Given the description of an element on the screen output the (x, y) to click on. 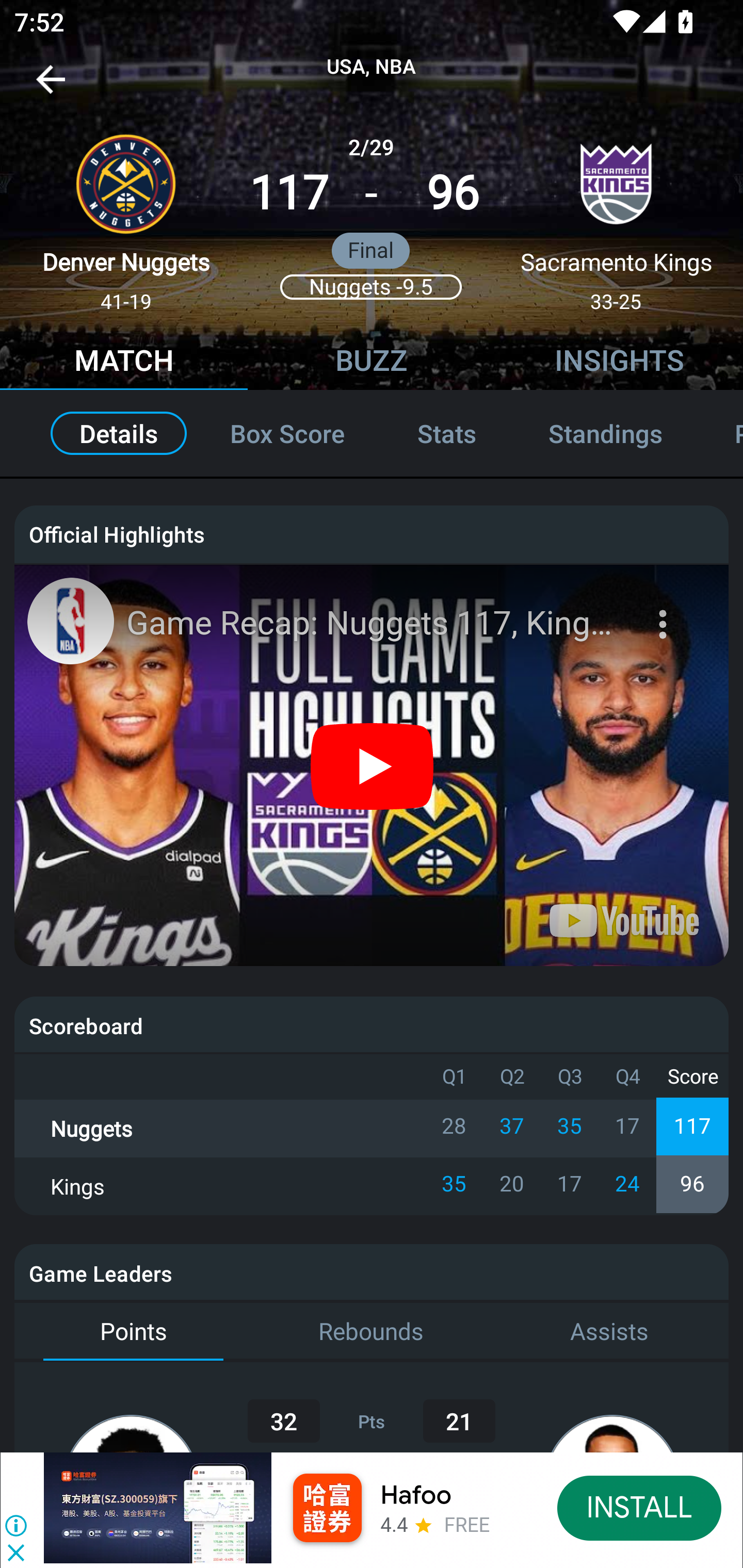
Navigate up (50, 86)
USA, NBA (371, 66)
Denver Nuggets 41-19 (126, 214)
Sacramento Kings 33-25 (616, 214)
117 (288, 192)
96 (453, 192)
MATCH (123, 362)
BUZZ (371, 362)
INSIGHTS (619, 362)
Box Score (287, 433)
Stats (446, 433)
Standings (605, 433)
Official Highlights (371, 533)
More (665, 612)
Photo image of Motion Station (70, 620)
Game Recap: Nuggets 117, Kings 96 (373, 623)
Play (372, 765)
Rebounds (371, 1332)
Assists (609, 1332)
INSTALL (639, 1507)
Hafoo (416, 1494)
